Given the description of an element on the screen output the (x, y) to click on. 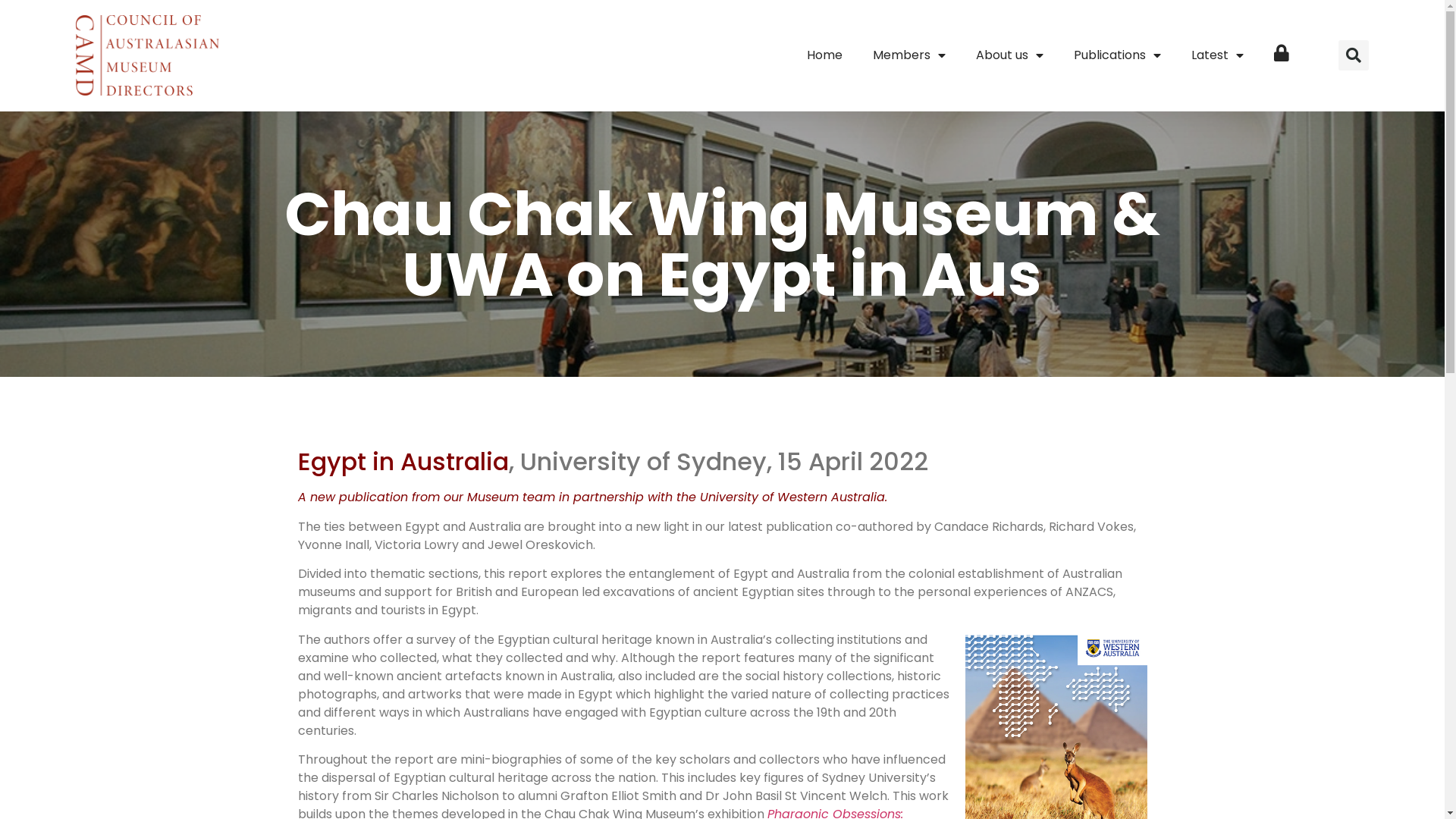
Egypt in Australia Element type: text (402, 461)
Publications Element type: text (1117, 55)
Login Element type: text (1281, 55)
Latest Element type: text (1217, 55)
Home Element type: text (824, 55)
Members Element type: text (908, 55)
About us Element type: text (1009, 55)
